Given the description of an element on the screen output the (x, y) to click on. 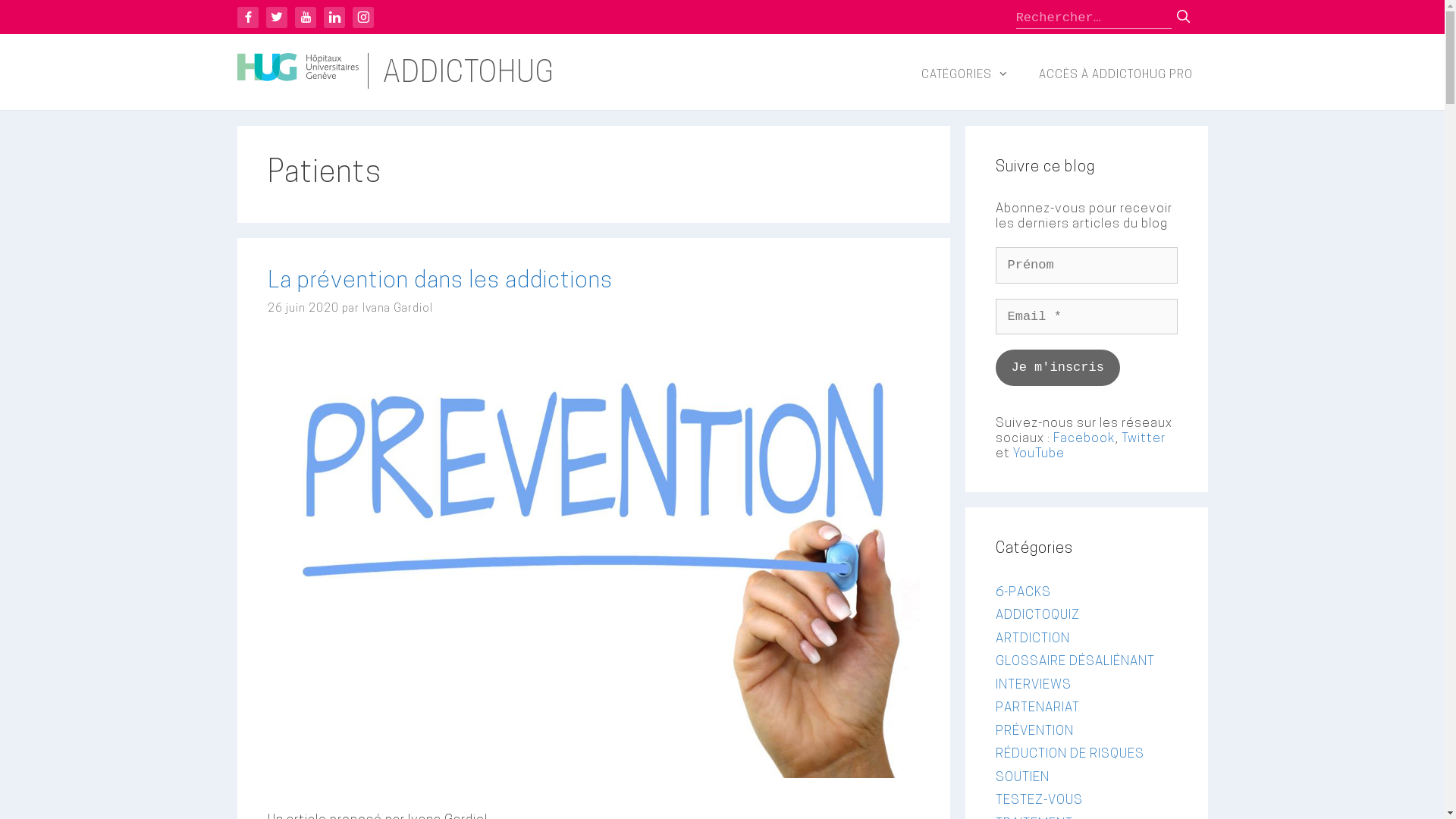
YouTube Element type: text (1038, 453)
LinkedIn Element type: text (333, 17)
YouTube Element type: text (304, 17)
PARTENARIAT Element type: text (1036, 707)
ARTDICTION Element type: text (1031, 638)
Facebook Element type: text (246, 17)
Twitter Element type: text (275, 17)
INTERVIEWS Element type: text (1032, 683)
Ivana Gardiol Element type: text (397, 308)
Twitter Element type: text (1142, 438)
Email Element type: hover (1085, 316)
Facebook Element type: text (1082, 438)
Instagram Element type: text (362, 17)
ADDICTOQUIZ Element type: text (1036, 614)
TESTEZ-VOUS Element type: text (1038, 799)
ADDICTOHUG Element type: text (467, 74)
Je m'inscris Element type: text (1056, 367)
6-PACKS Element type: text (1022, 591)
SOUTIEN Element type: text (1021, 776)
